Given the description of an element on the screen output the (x, y) to click on. 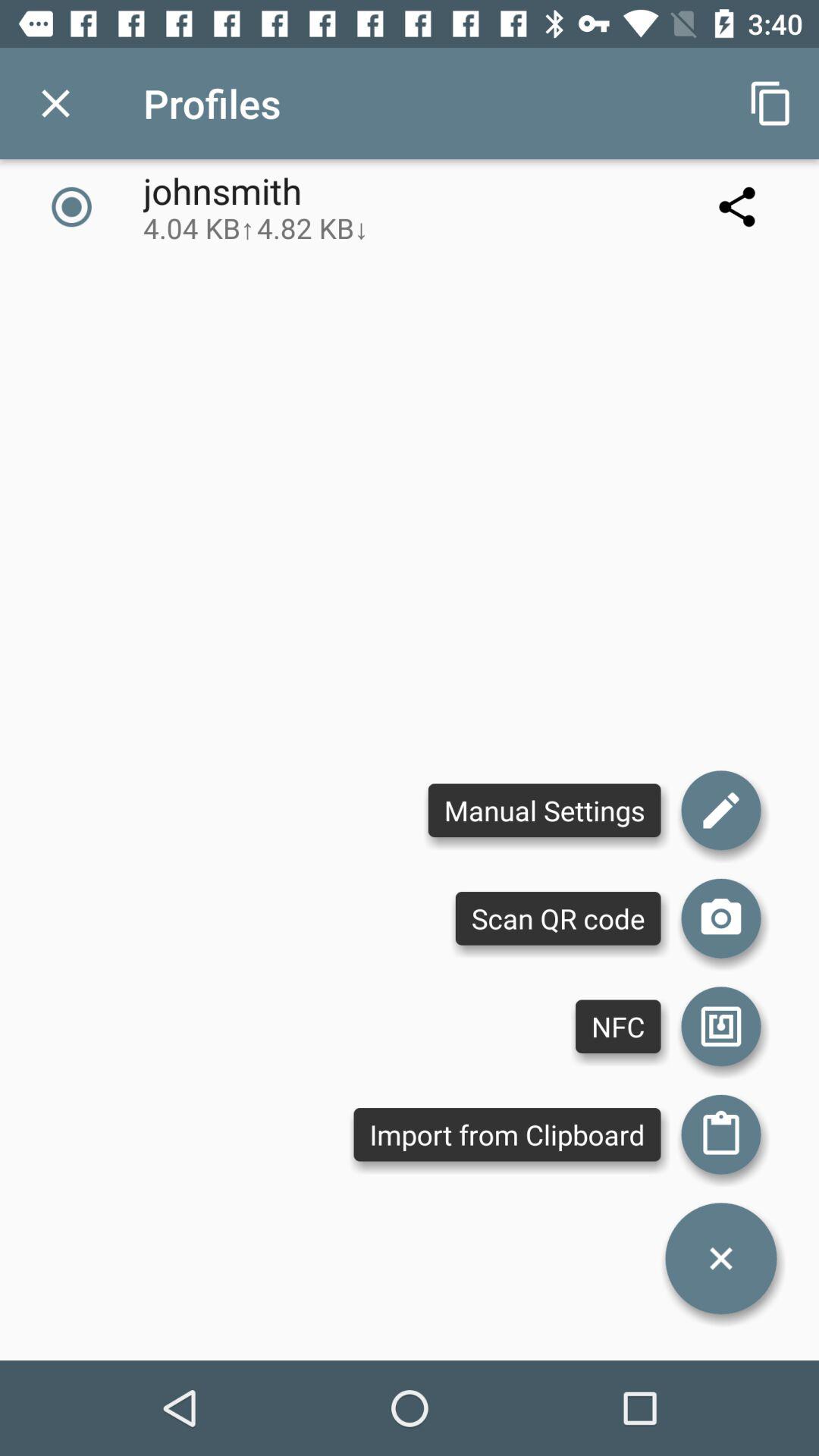
click the import from clipboard item (507, 1134)
